Given the description of an element on the screen output the (x, y) to click on. 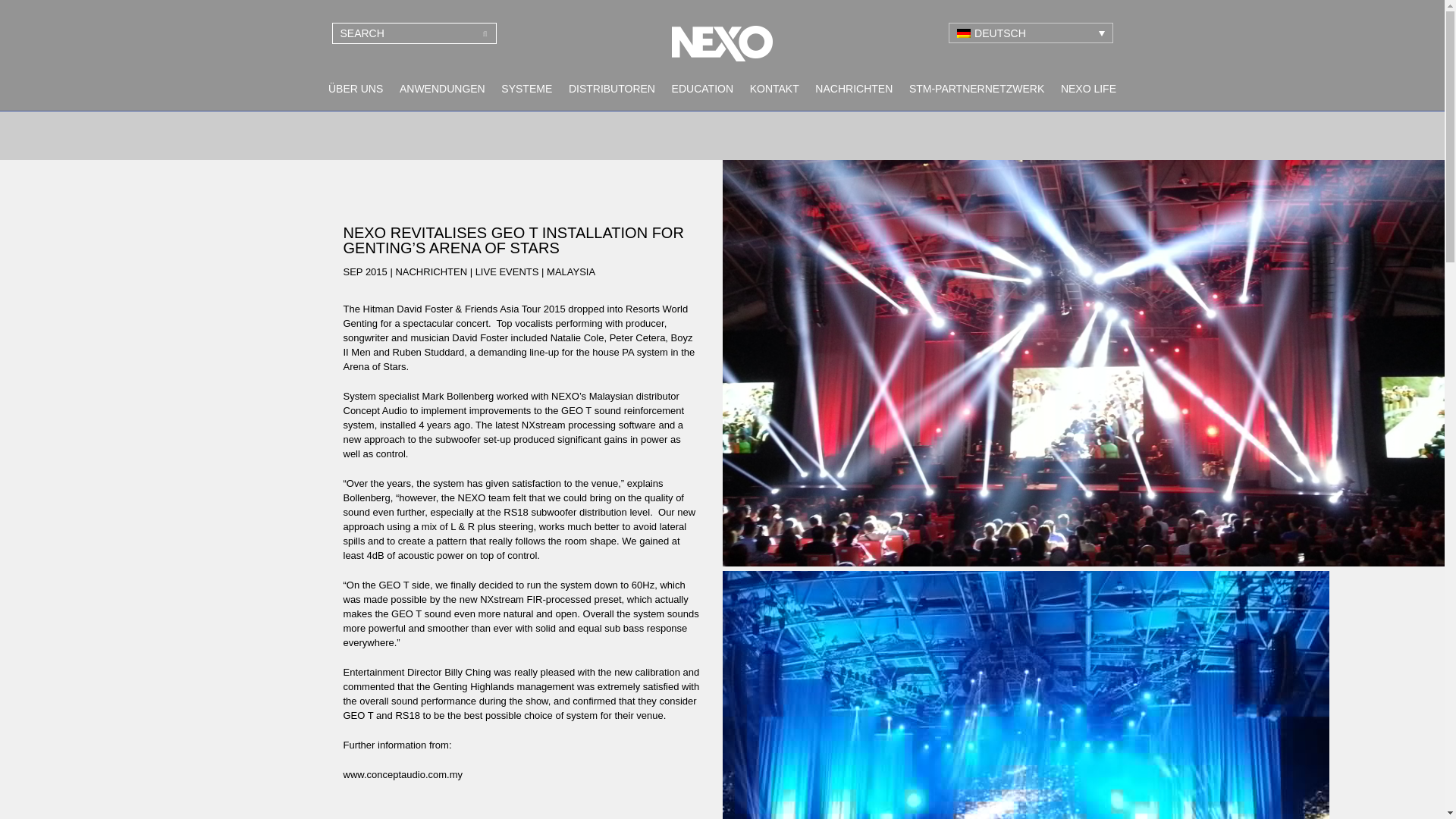
DEUTSCH (1029, 32)
Search for: (413, 33)
SEARCH (485, 33)
SYSTEME (527, 89)
ANWENDUNGEN (442, 89)
